Given the description of an element on the screen output the (x, y) to click on. 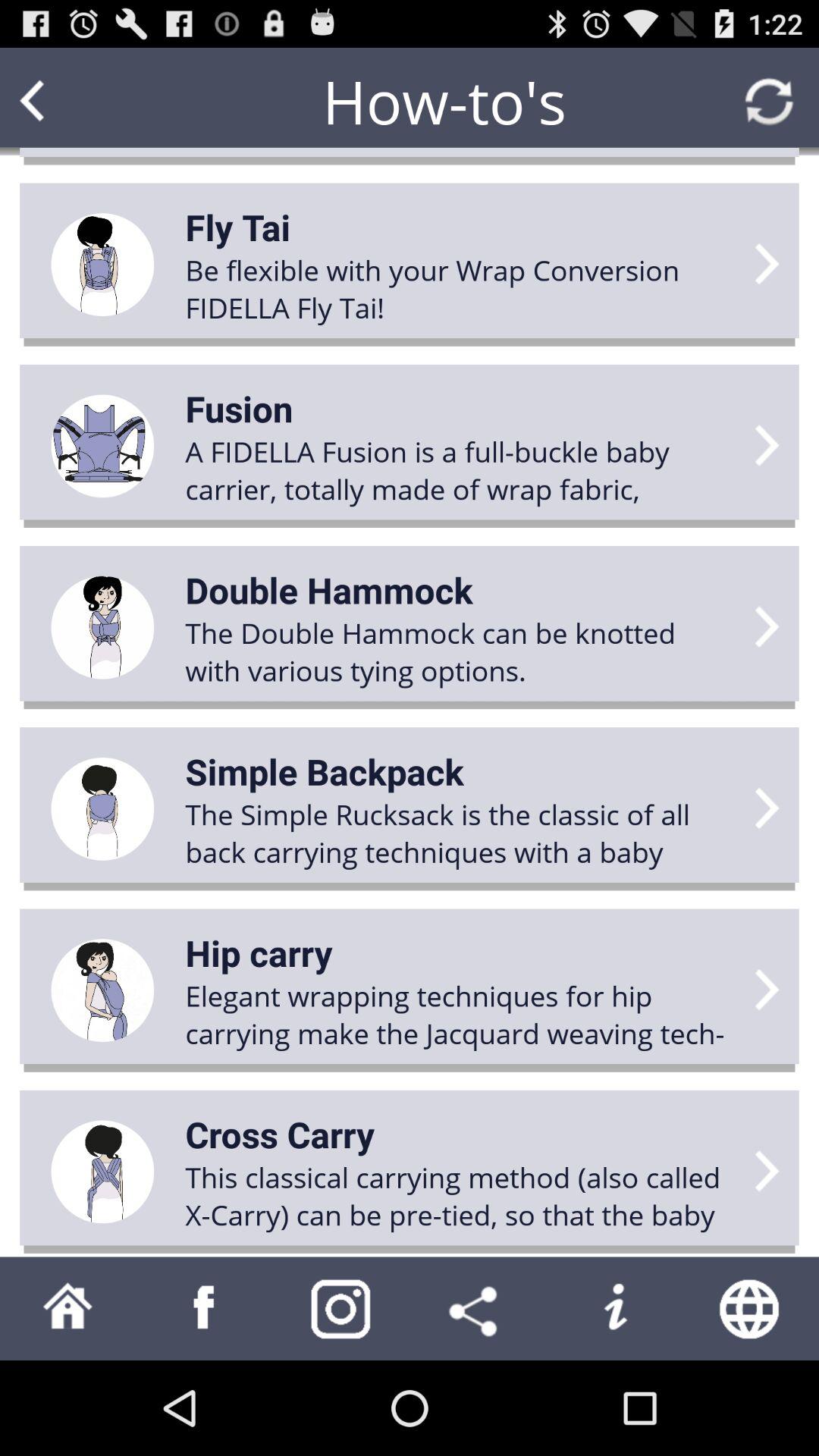
press the cross carry item (279, 1134)
